Given the description of an element on the screen output the (x, y) to click on. 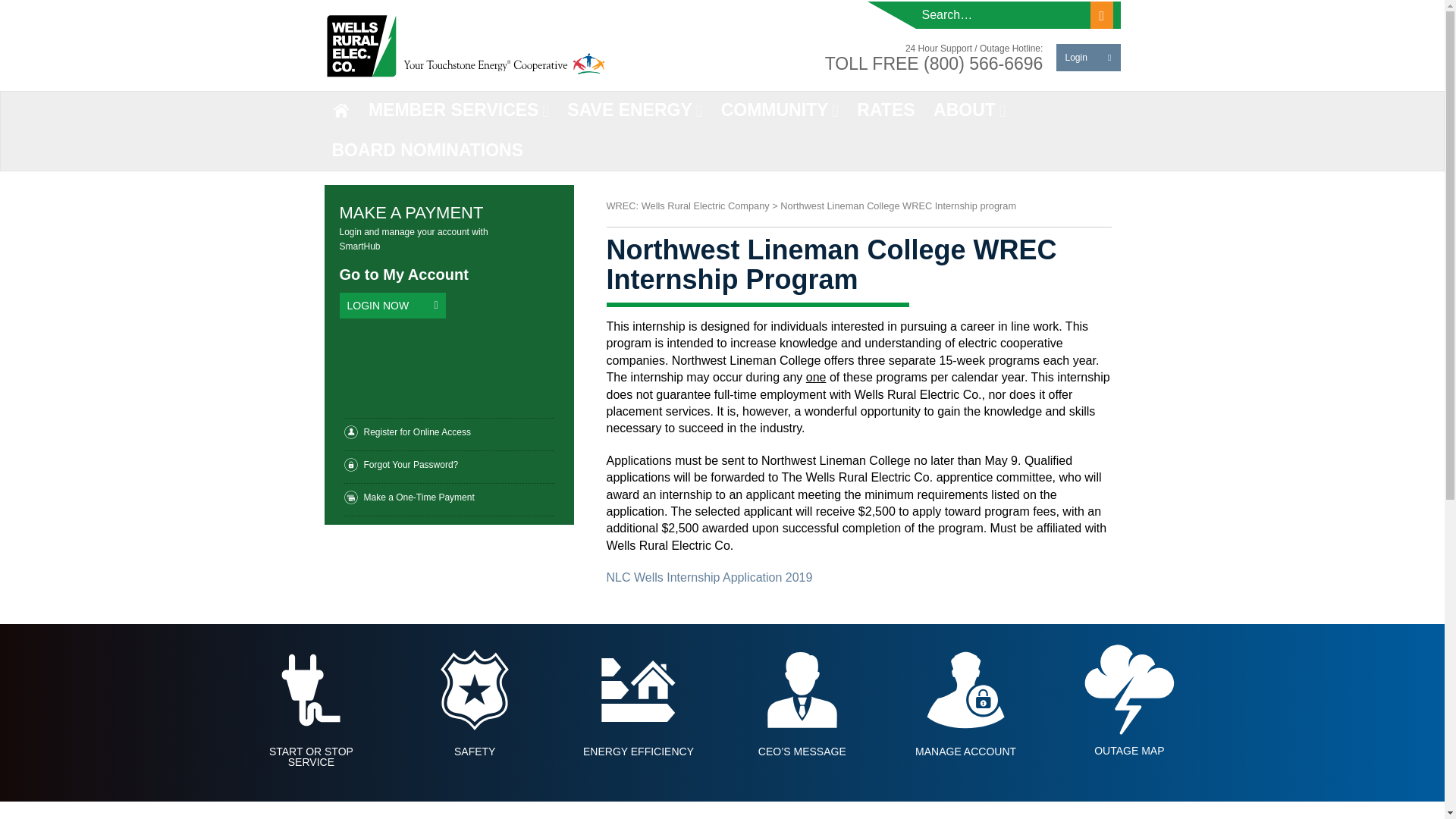
MANAGE ACCOUNT (965, 689)
OUTAGE MAP (1129, 688)
SAFETY (474, 689)
START OR STOP SERVICE (310, 689)
Go to WREC: Wells Rural Electric Company. (688, 205)
Home (340, 110)
ENERGY EFFICIENCY (638, 689)
WREC: Wells Rural Electric Company -  (466, 45)
